Given the description of an element on the screen output the (x, y) to click on. 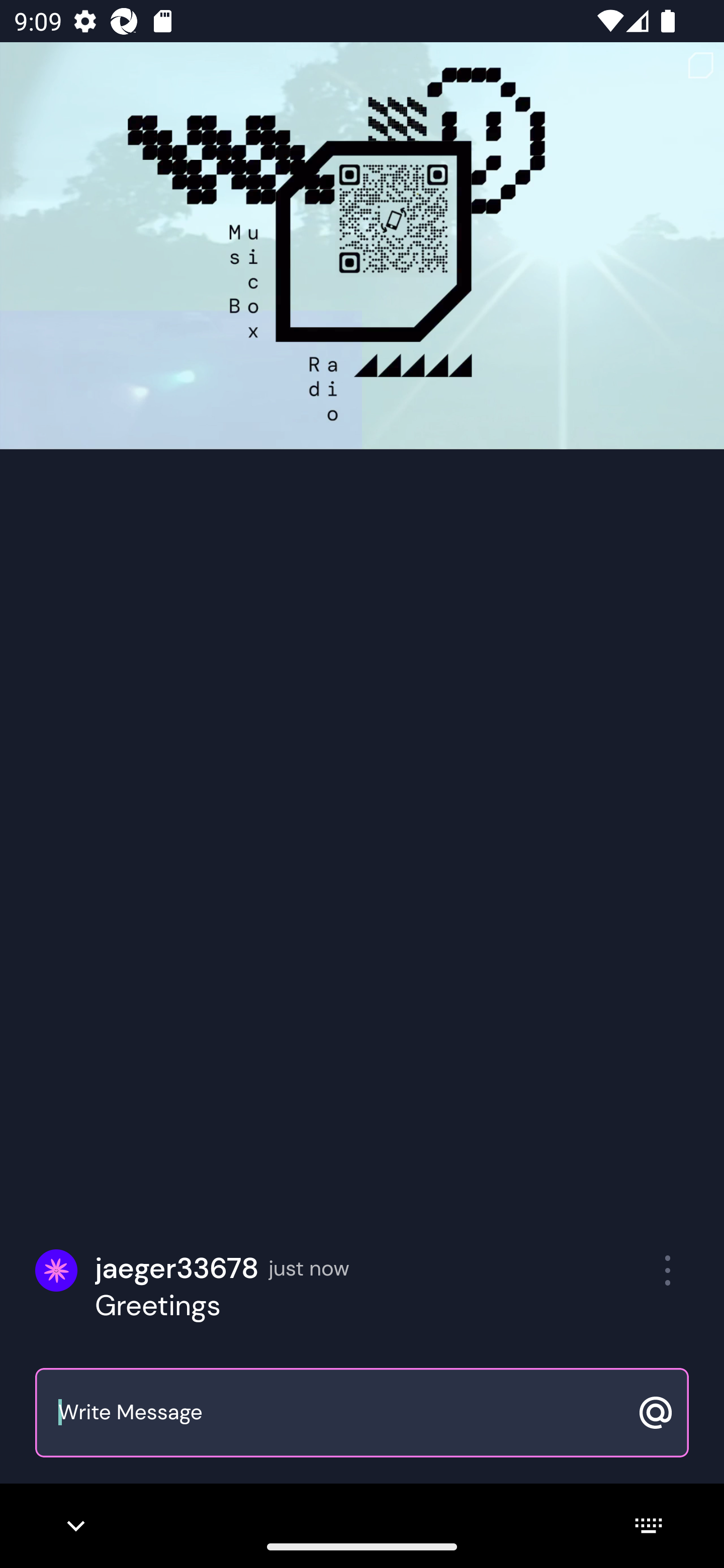
jaeger33678 (176, 1268)
Write Message (340, 1413)
